Given the description of an element on the screen output the (x, y) to click on. 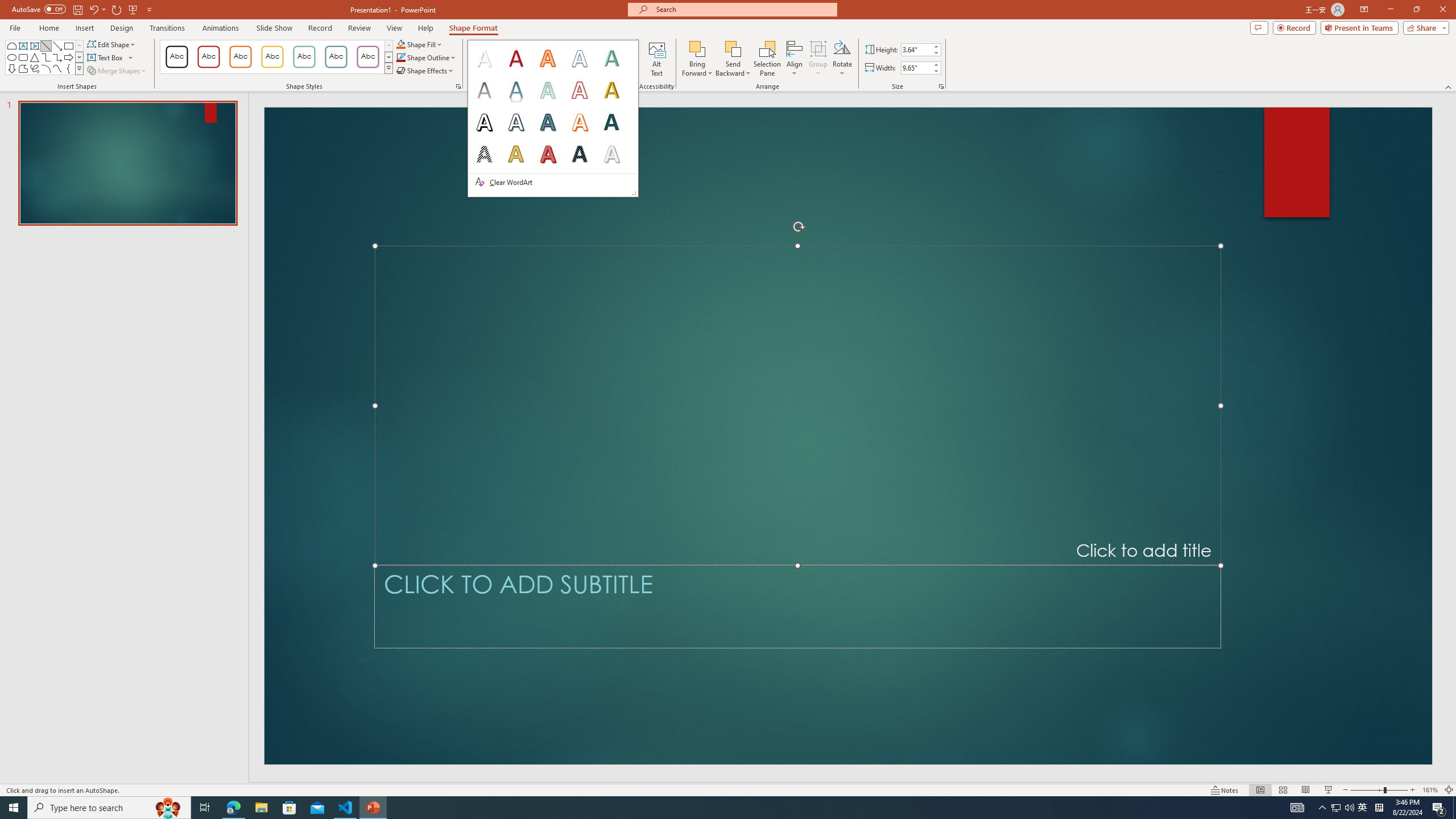
Colored Outline - Purple, Accent 6 (368, 56)
Shape Outline Blue, Accent 1 (400, 56)
Align (794, 58)
